Given the description of an element on the screen output the (x, y) to click on. 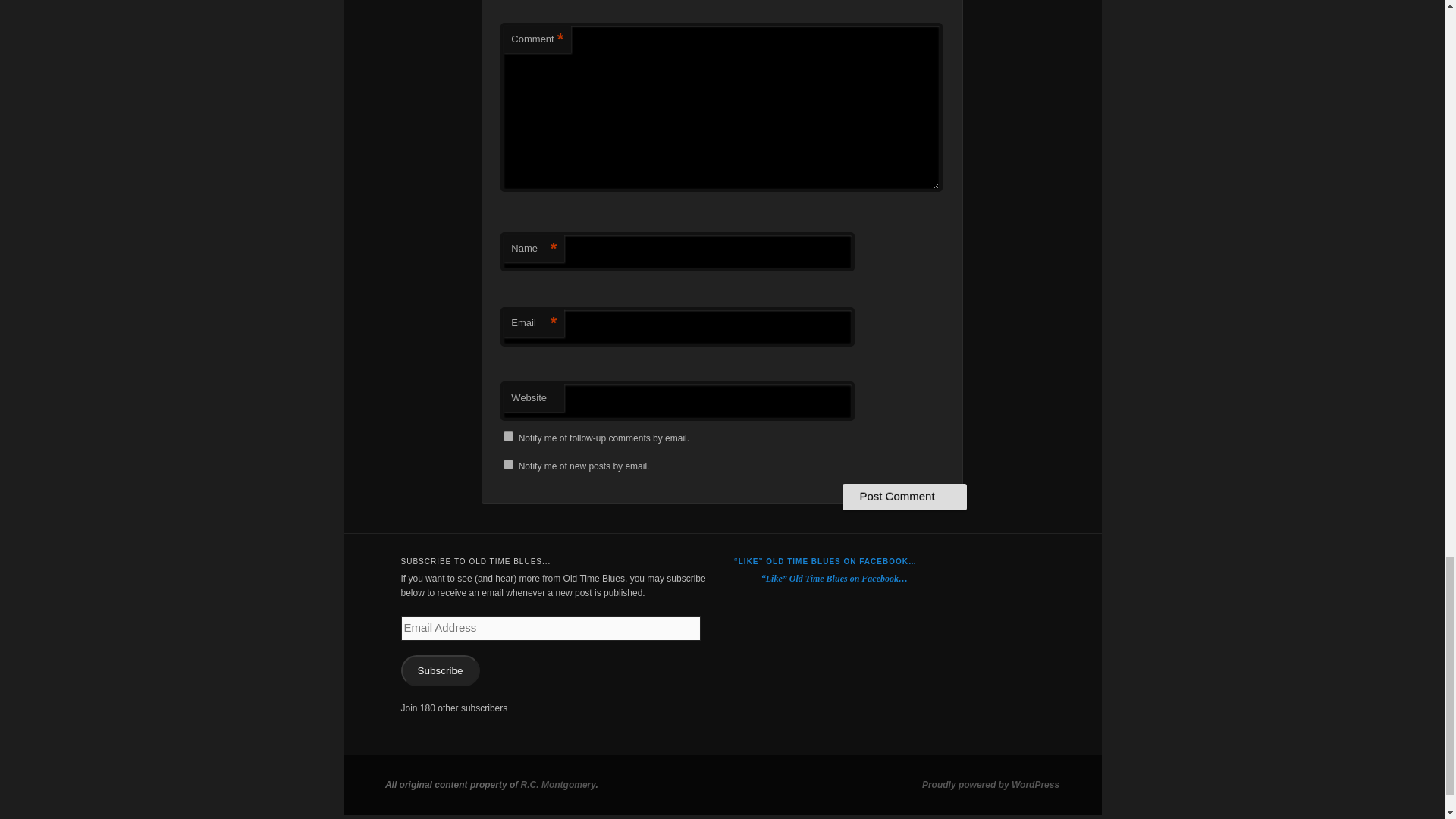
subscribe (508, 436)
Post Comment (904, 496)
subscribe (508, 464)
Semantic Personal Publishing Platform (990, 784)
